Given the description of an element on the screen output the (x, y) to click on. 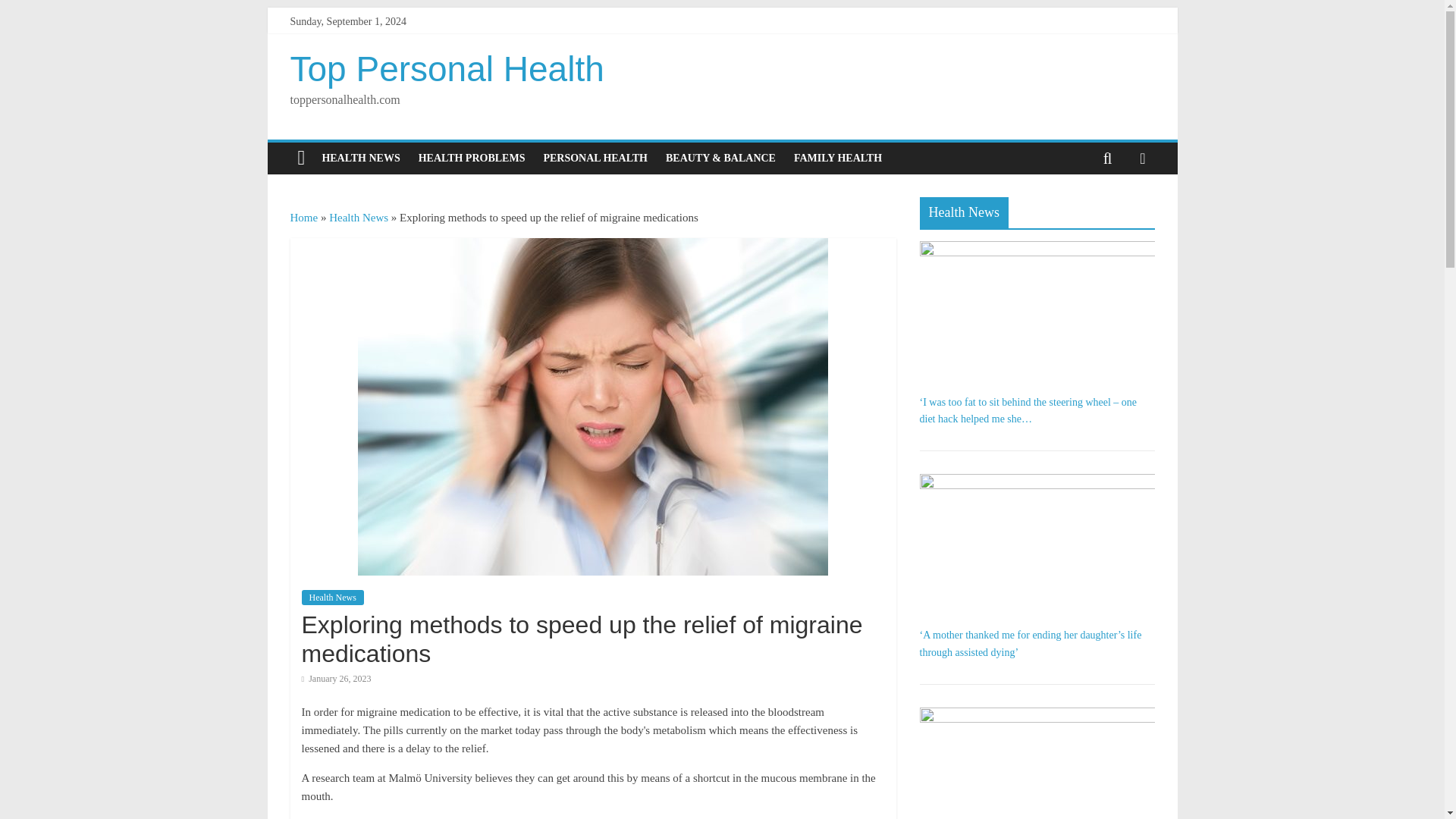
January 26, 2023 (336, 678)
7:51 pm (336, 678)
Health News (358, 217)
FAMILY HEALTH (837, 158)
HEALTH NEWS (361, 158)
PERSONAL HEALTH (595, 158)
Top Personal Health (446, 68)
Top Personal Health (446, 68)
Home (303, 217)
Health News (332, 597)
